Given the description of an element on the screen output the (x, y) to click on. 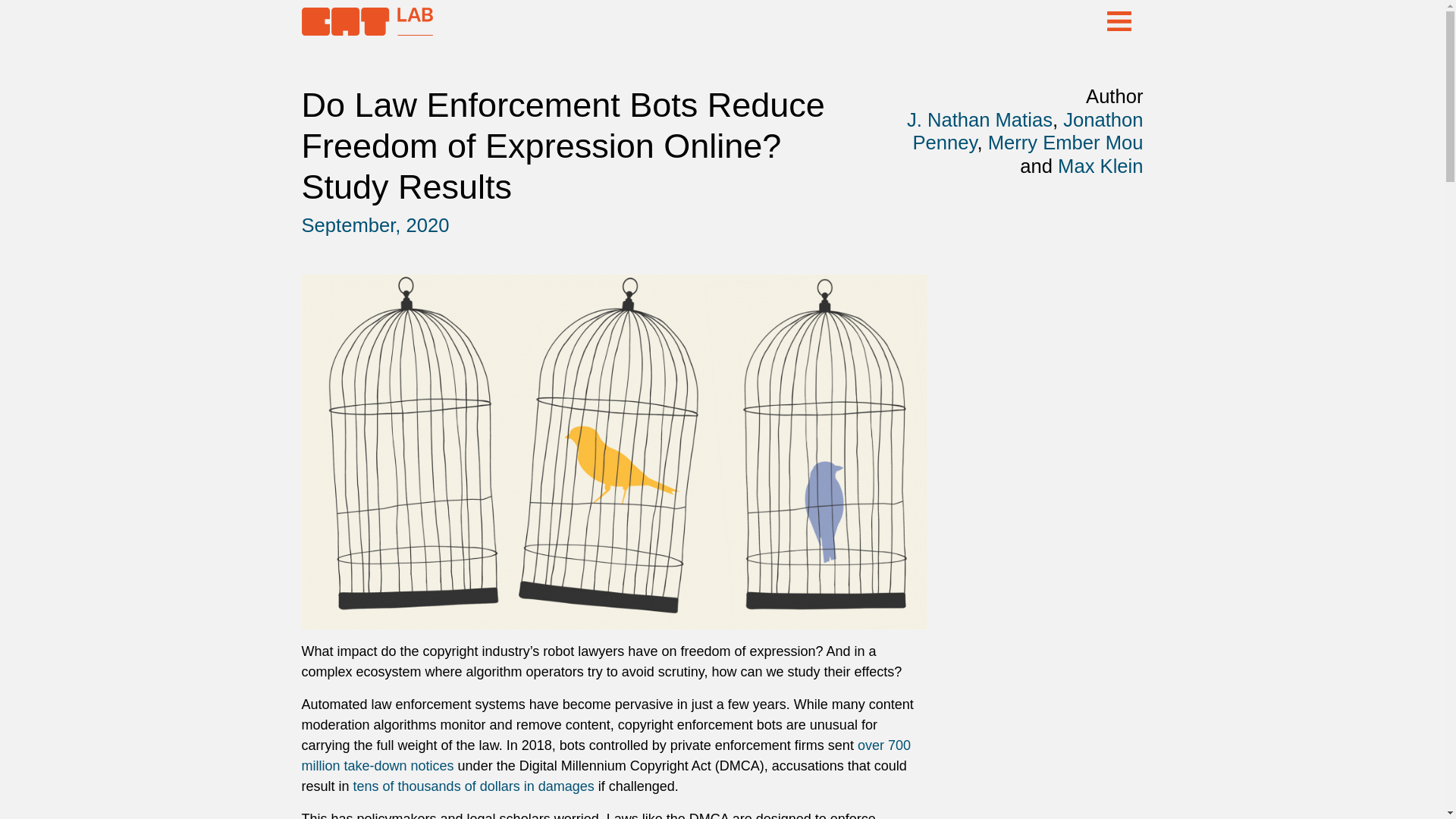
Jonathon Penney (1027, 130)
Posts by Jonathon Penney (1027, 130)
Posts by J. Nathan Matias (979, 119)
CAT Lab (367, 29)
Posts by Merry Ember Mou (1065, 142)
Merry Ember Mou (1065, 142)
tens of thousands of dollars in damages (473, 785)
J. Nathan Matias (979, 119)
Posts by Max Klein (1100, 165)
Max Klein (1100, 165)
over 700 million take-down notices (606, 755)
